Given the description of an element on the screen output the (x, y) to click on. 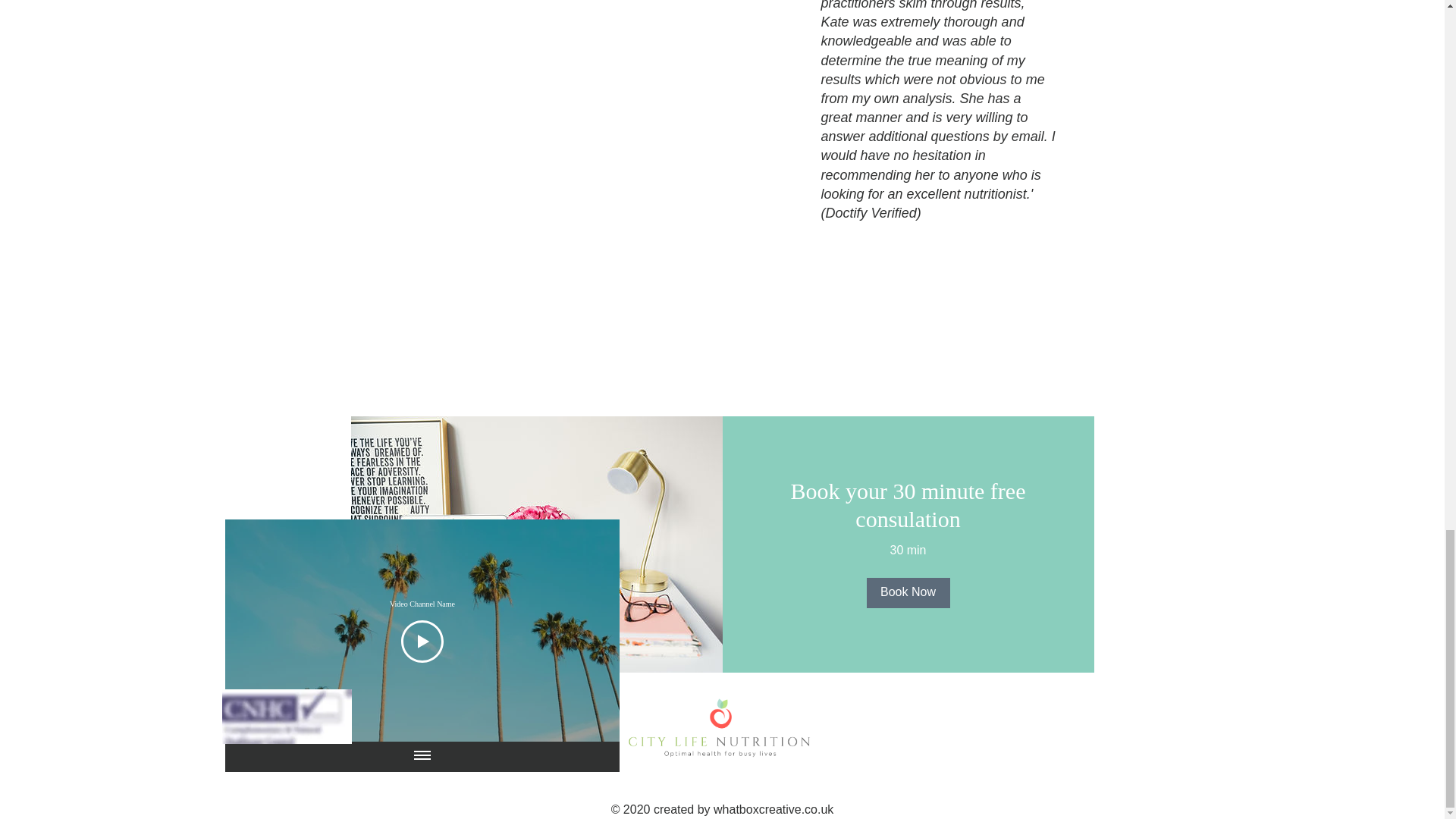
Book Now (907, 593)
Video Channel Name (421, 603)
